Given the description of an element on the screen output the (x, y) to click on. 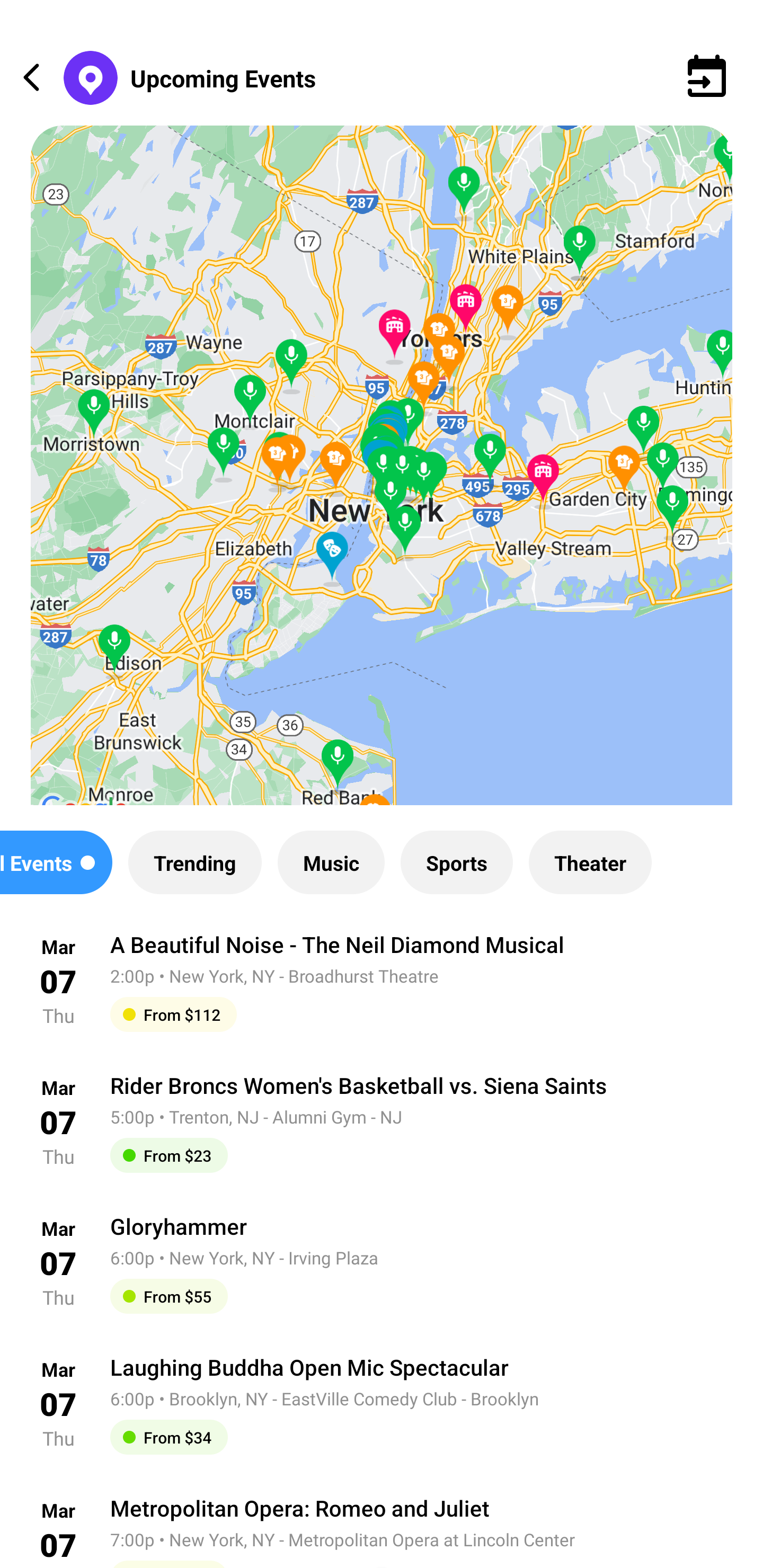
Trending (194, 862)
Music (330, 862)
Sports (456, 862)
Theater (589, 862)
